Given the description of an element on the screen output the (x, y) to click on. 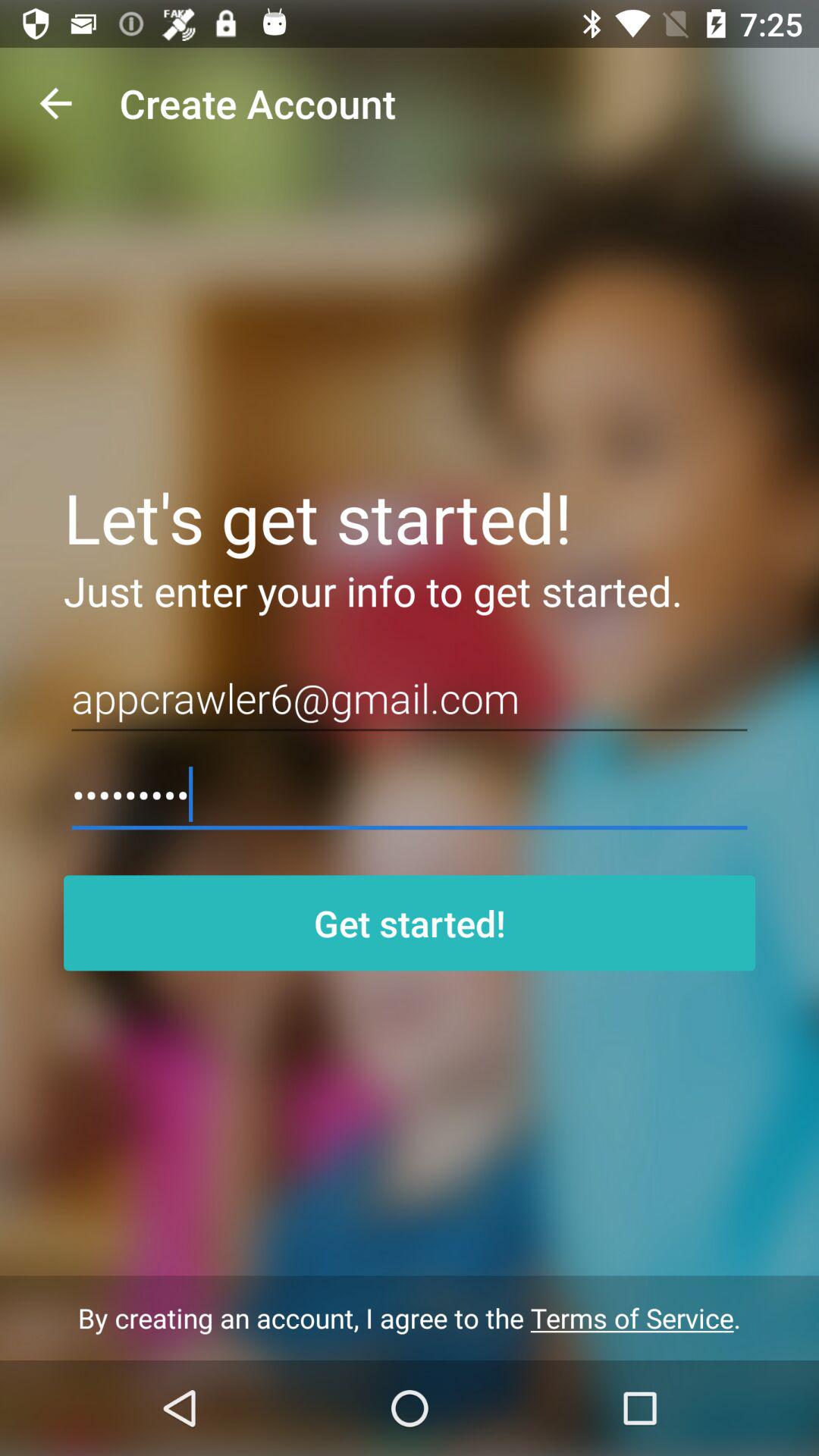
open the icon above the crowd3116 (409, 698)
